Given the description of an element on the screen output the (x, y) to click on. 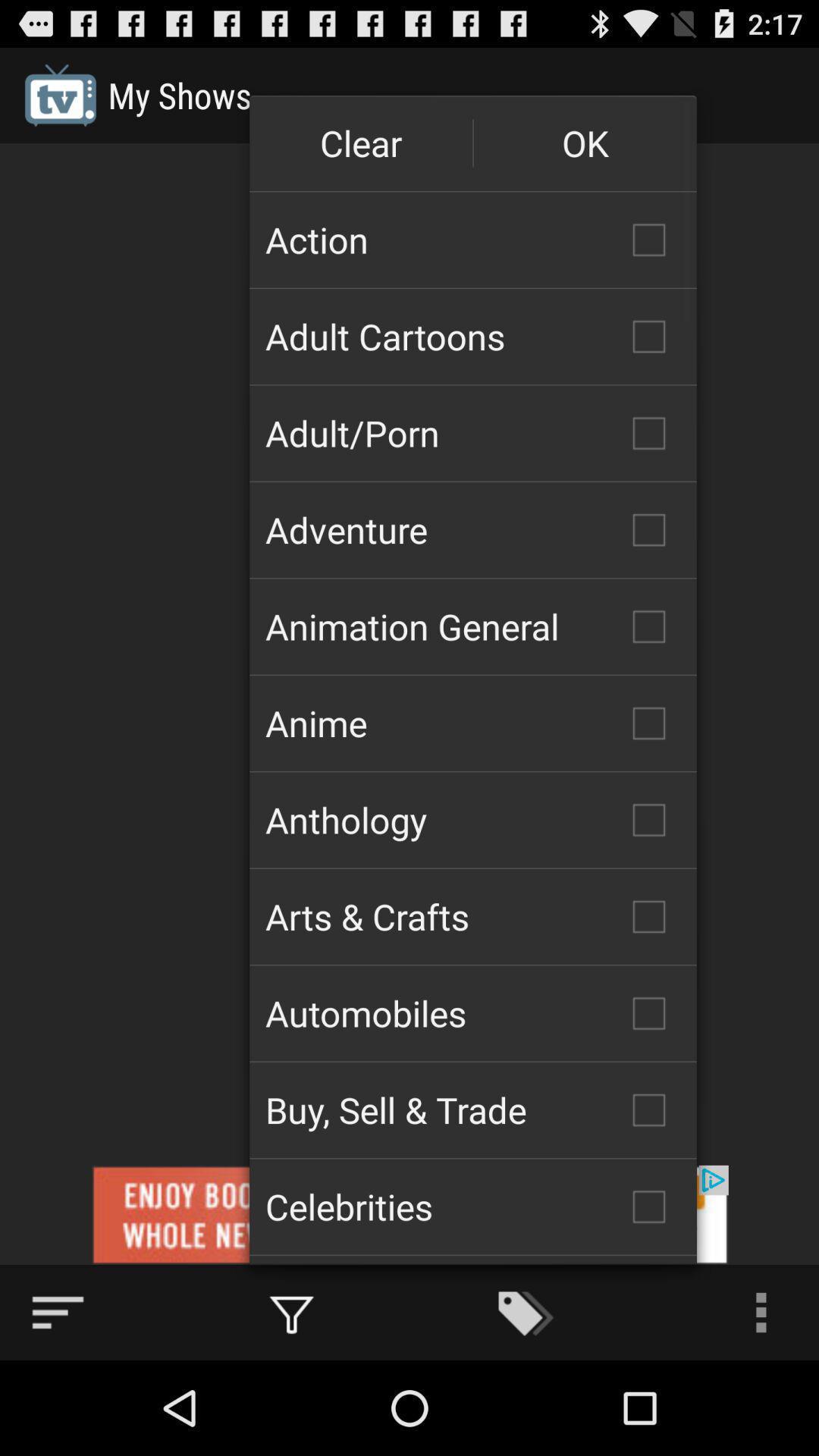
press the item above action icon (584, 143)
